Given the description of an element on the screen output the (x, y) to click on. 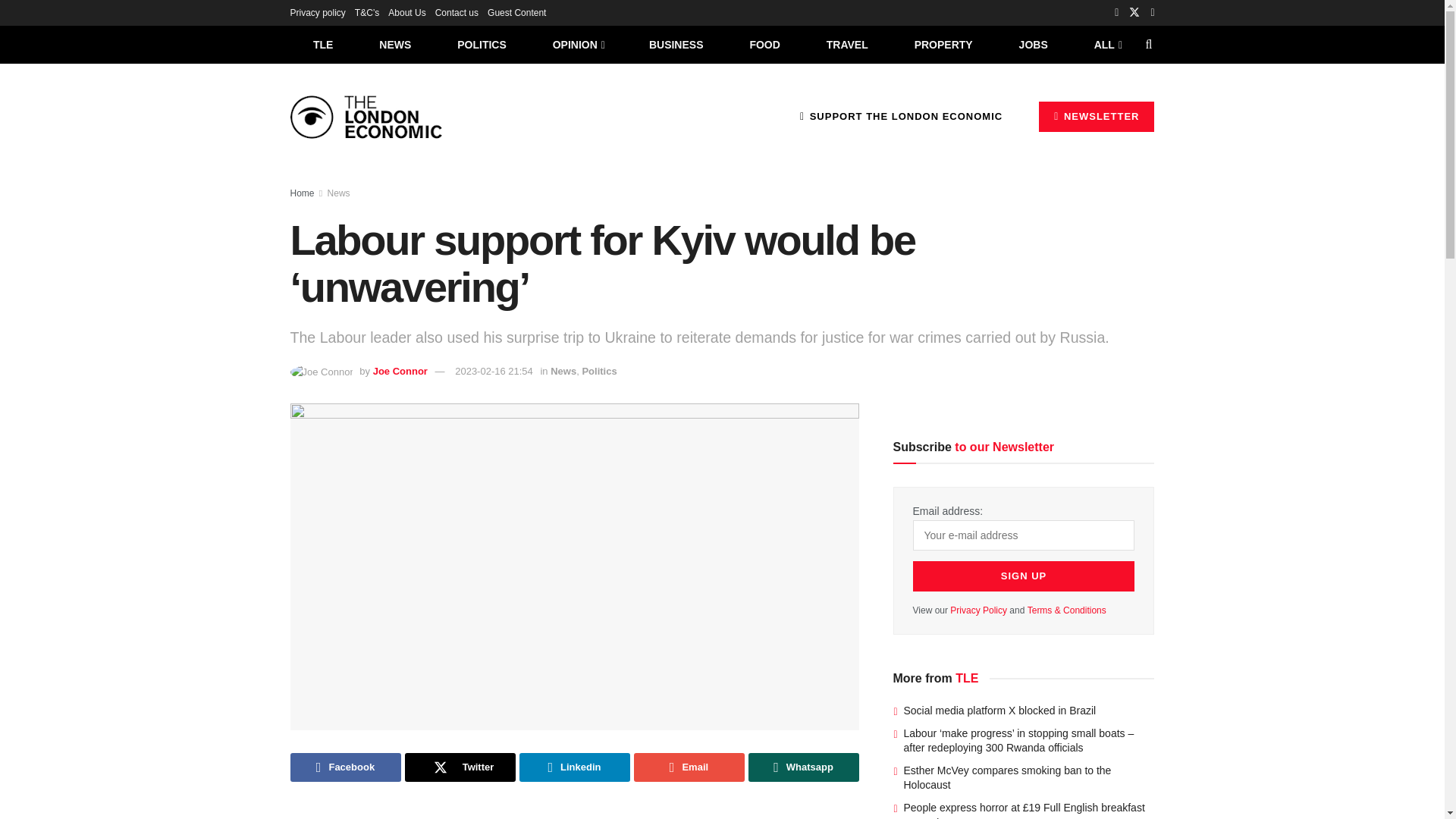
OPINION (577, 44)
FOOD (764, 44)
Home (301, 193)
Privacy policy (317, 12)
NEWSLETTER (1096, 116)
POLITICS (481, 44)
PROPERTY (943, 44)
Contact us (457, 12)
BUSINESS (676, 44)
TRAVEL (847, 44)
